Given the description of an element on the screen output the (x, y) to click on. 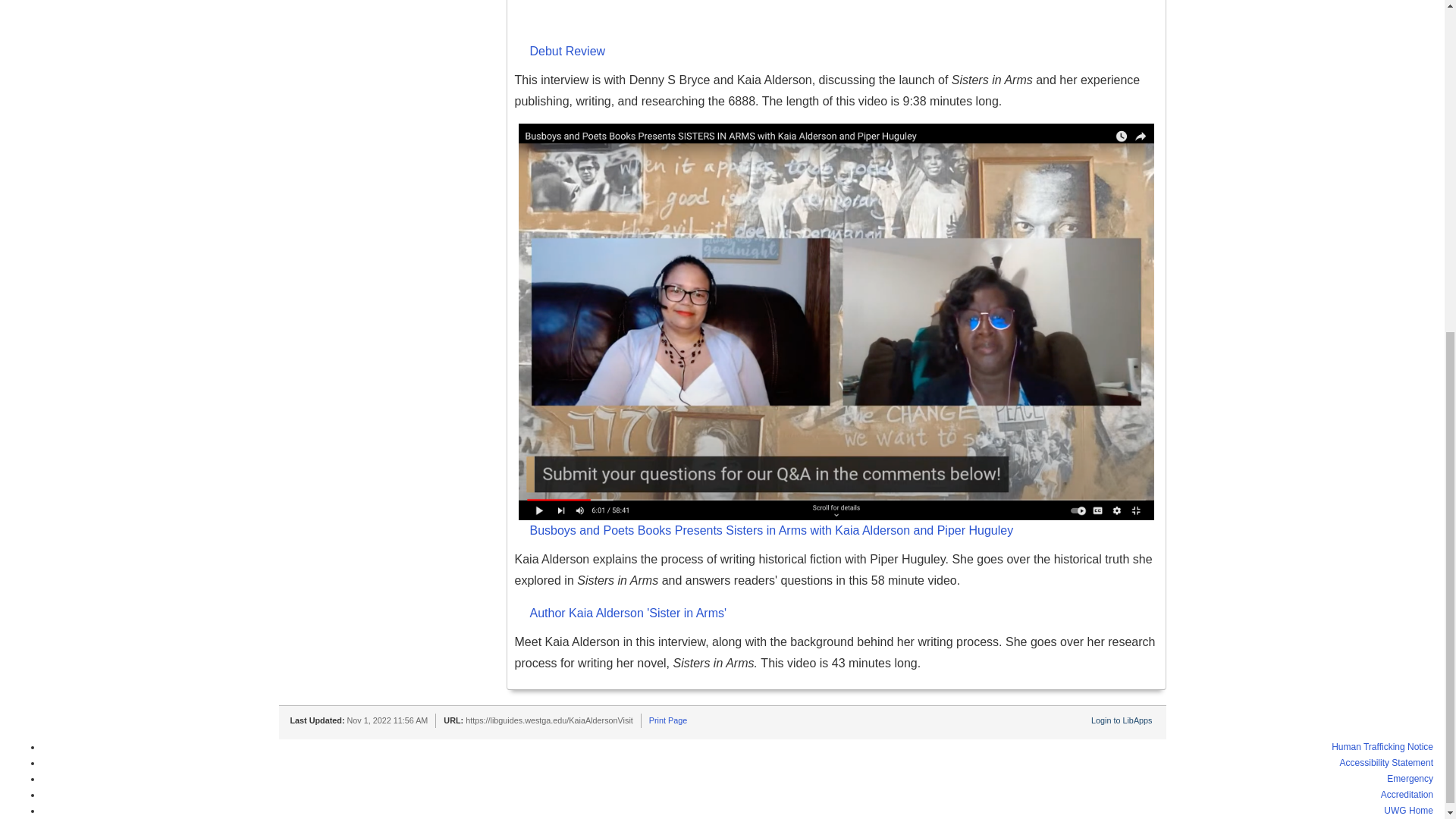
Emergency (1409, 778)
Accessibility Statement (1385, 762)
Accreditation (1406, 794)
Author Kaia Alderson 'Sister in Arms' (843, 614)
UWG Home (1408, 810)
Human Trafficking Notice (1382, 747)
Print Page (668, 719)
Login to LibApps (1120, 719)
